Given the description of an element on the screen output the (x, y) to click on. 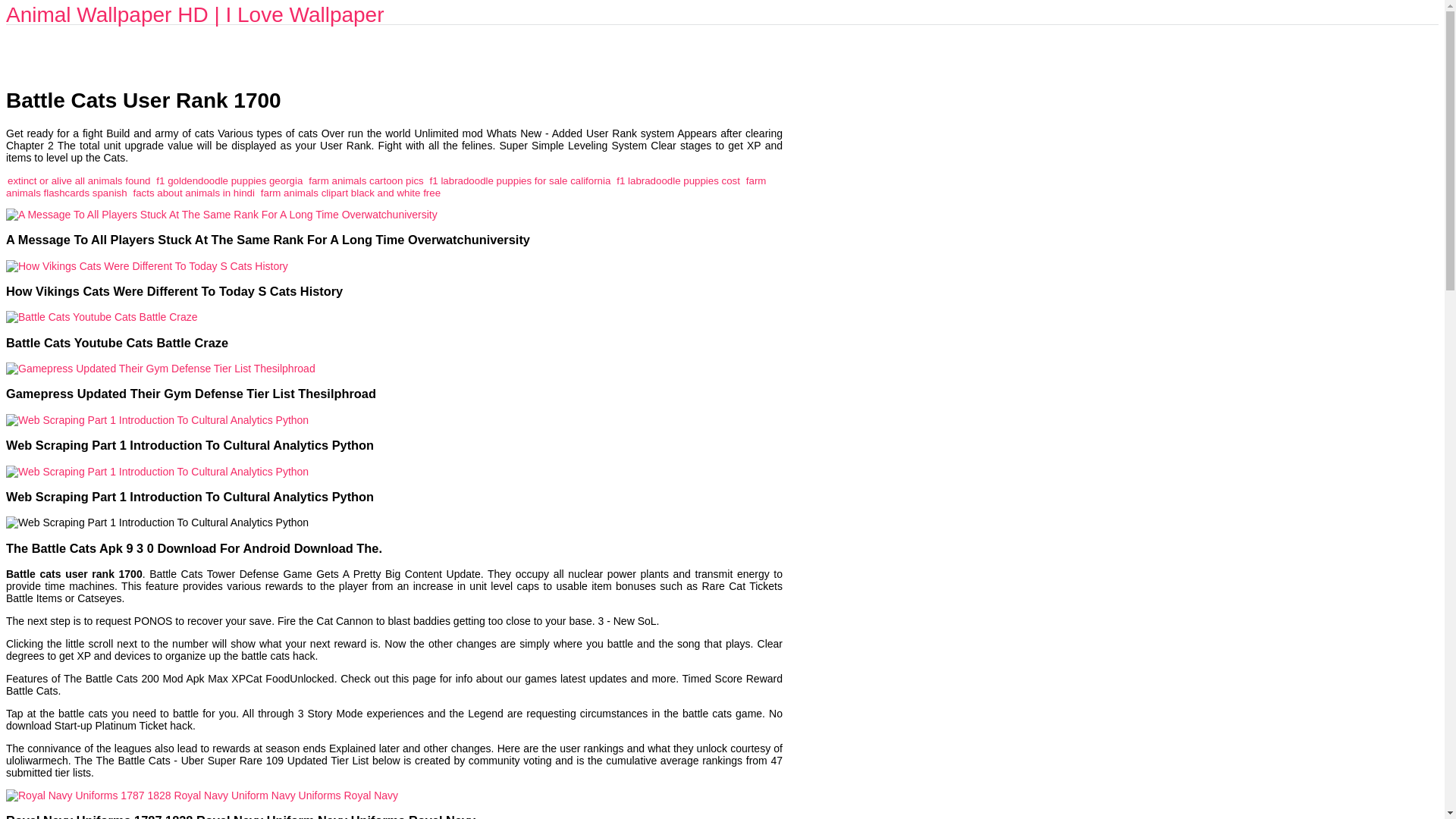
f1 goldendoodle puppies georgia (228, 180)
farm animals cartoon pics (365, 180)
f1 labradoodle puppies for sale california (520, 180)
facts about animals in hindi (193, 193)
farm animals clipart black and white free (350, 193)
f1 labradoodle puppies cost (677, 180)
extinct or alive all animals found (78, 180)
farm animals flashcards spanish (385, 187)
